Given the description of an element on the screen output the (x, y) to click on. 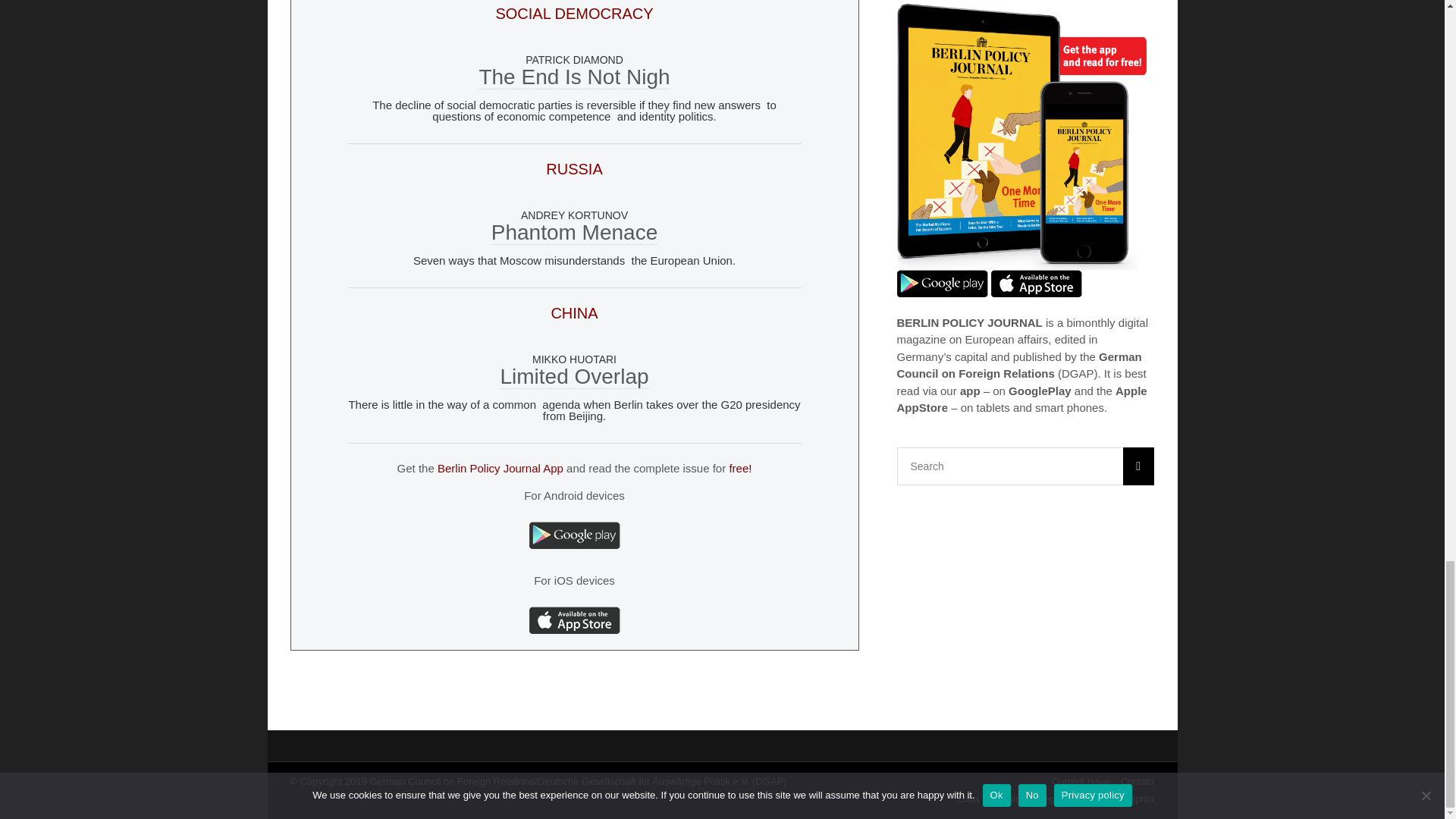
Search (1025, 466)
The End Is Not Nigh (574, 77)
Phantom Menace (575, 232)
Limited Overlap (573, 376)
